Given the description of an element on the screen output the (x, y) to click on. 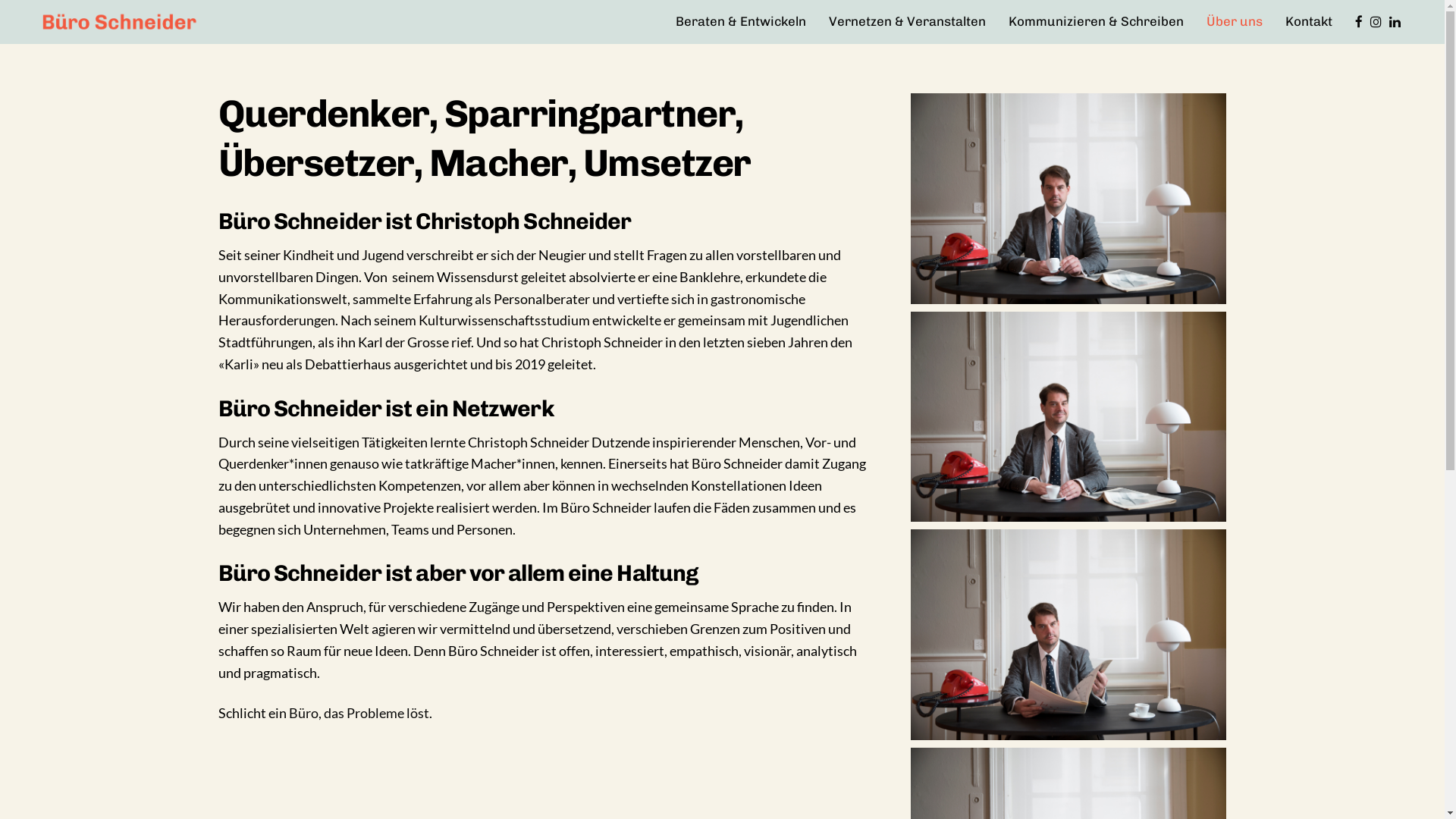
Kaffee-Lachen Element type: hover (1068, 416)
Beraten & Entwickeln Element type: text (740, 21)
Kaffee-Ernst Element type: hover (1068, 198)
Zeitung Element type: hover (1068, 634)
Kontakt Element type: text (1308, 21)
Kommunizieren & Schreiben Element type: text (1095, 21)
Vernetzen & Veranstalten Element type: text (906, 21)
